Given the description of an element on the screen output the (x, y) to click on. 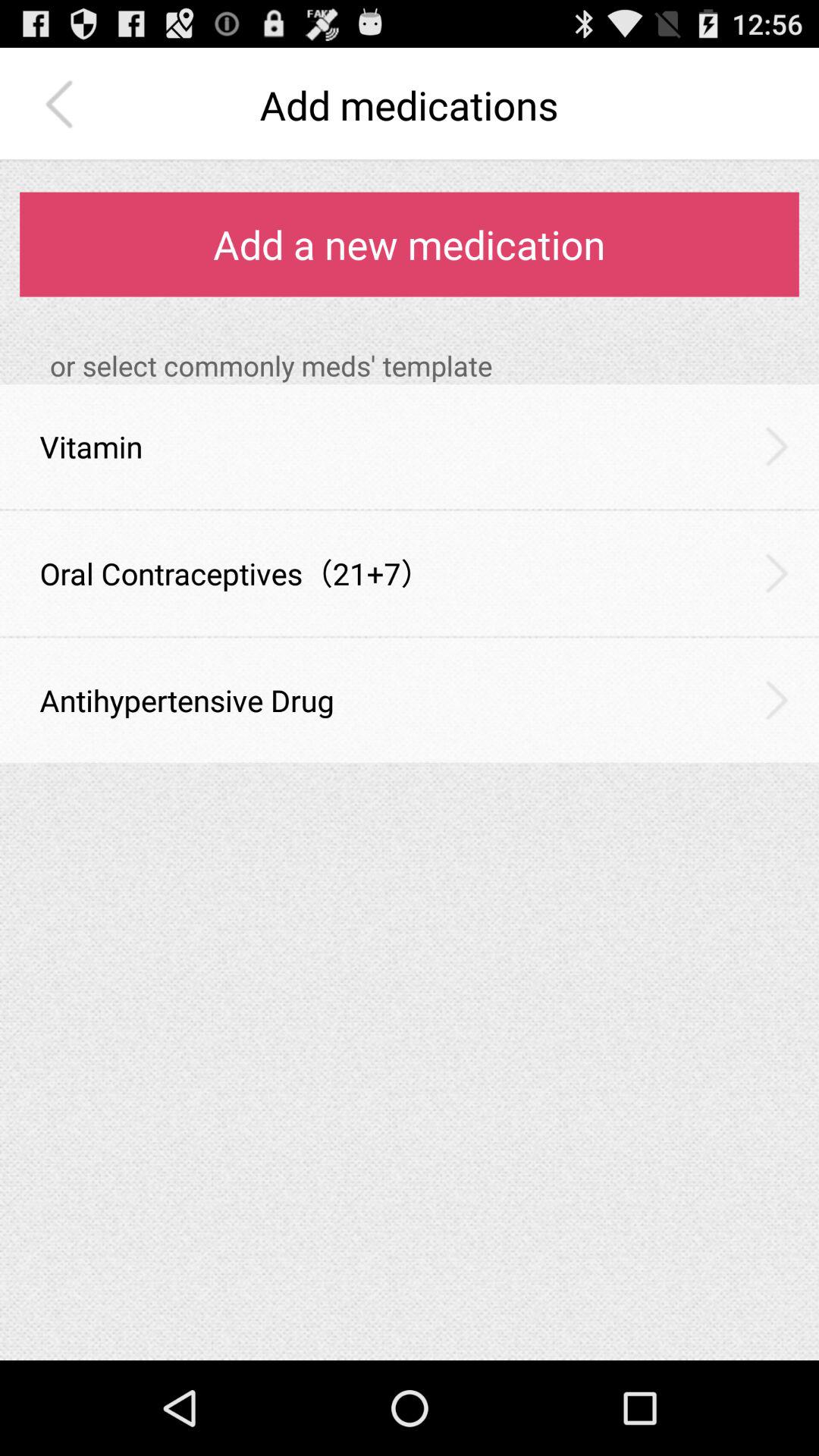
open the item to the right of vitamin icon (776, 445)
